Given the description of an element on the screen output the (x, y) to click on. 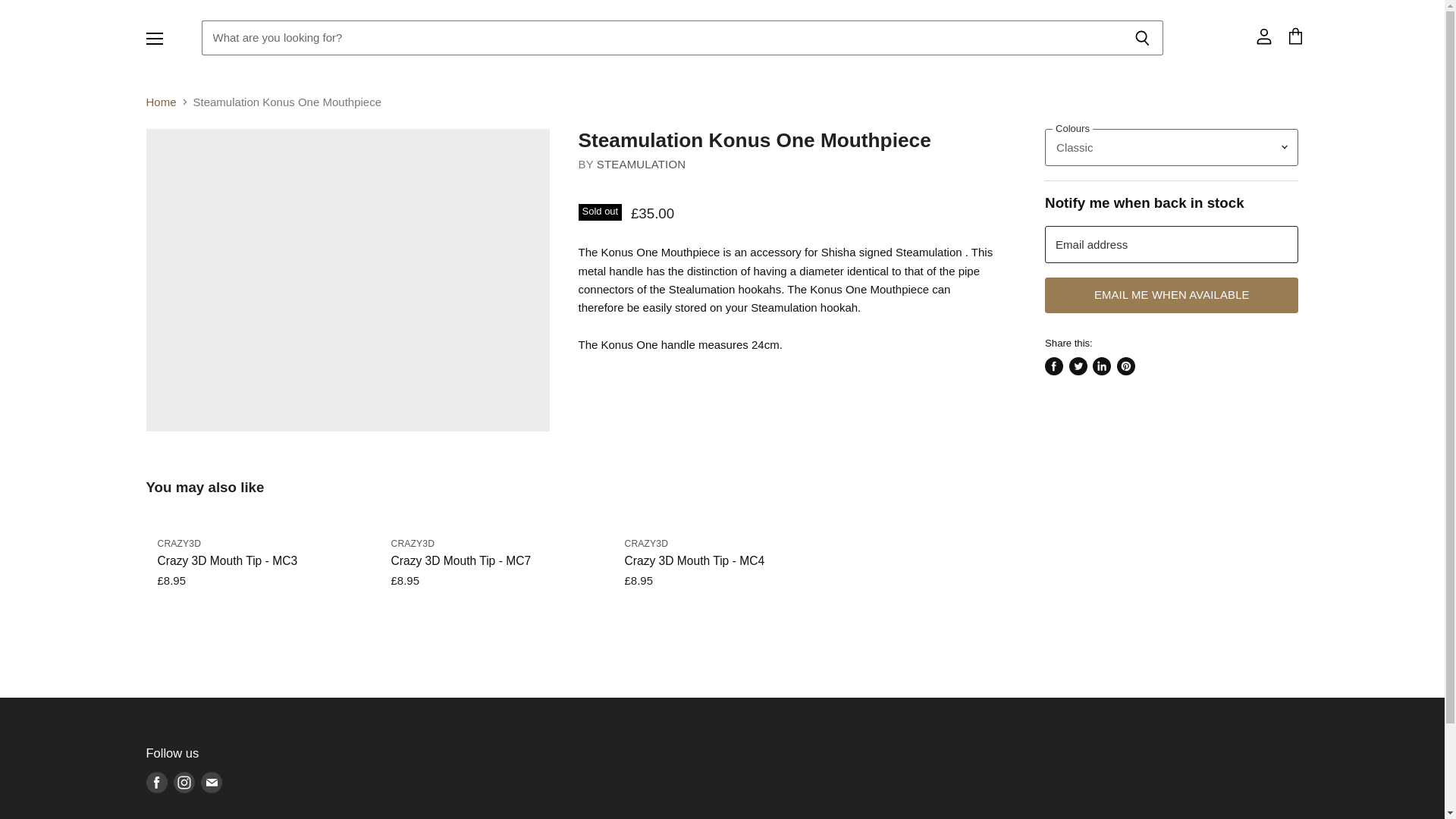
Menu (154, 37)
Facebook (156, 782)
Home (160, 101)
Instagram (183, 782)
Steamulation (640, 164)
E-mail (210, 782)
View account (1262, 38)
View cart (1293, 38)
